Given the description of an element on the screen output the (x, y) to click on. 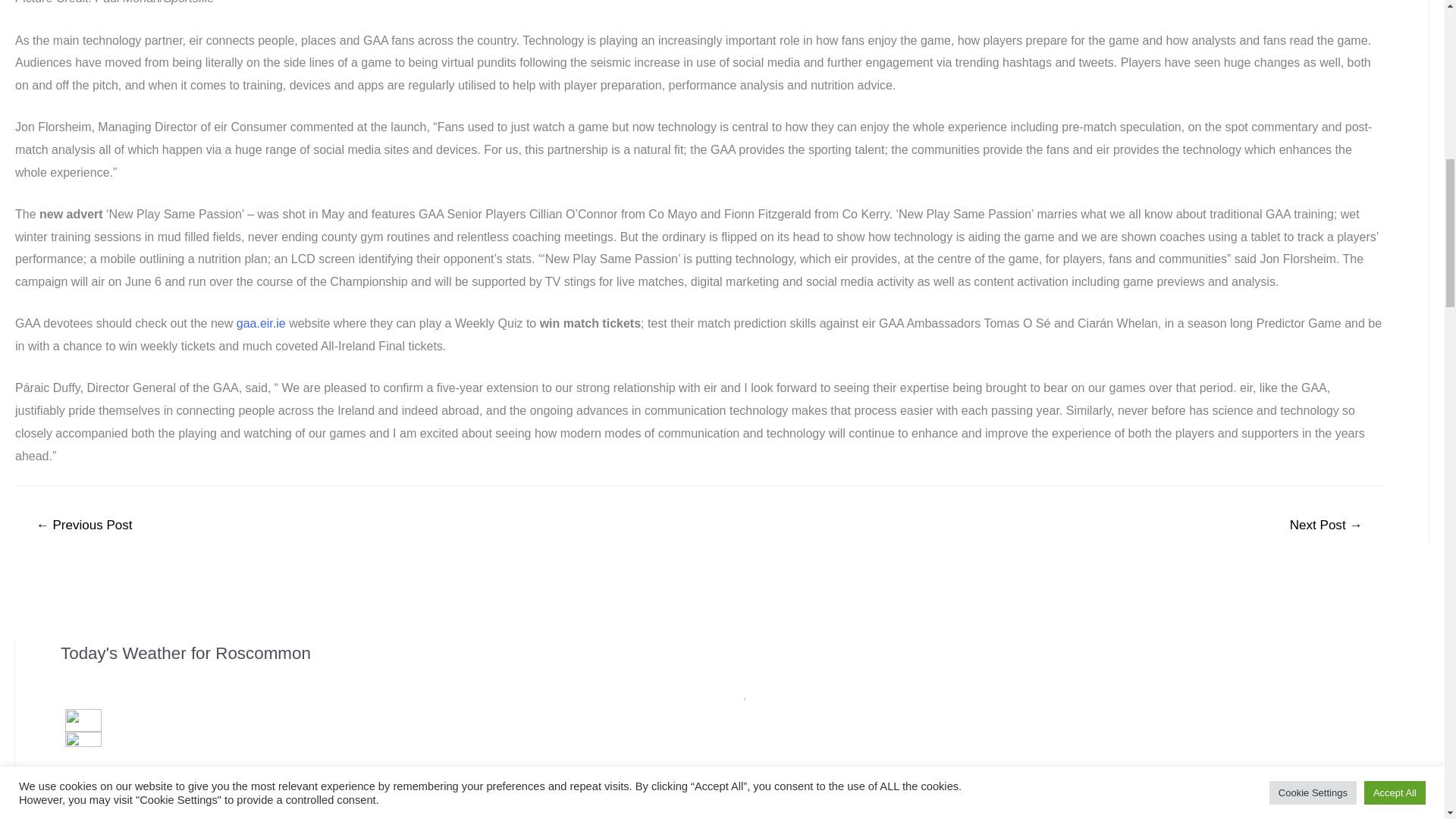
gaa.eir.ie (260, 323)
